Given the description of an element on the screen output the (x, y) to click on. 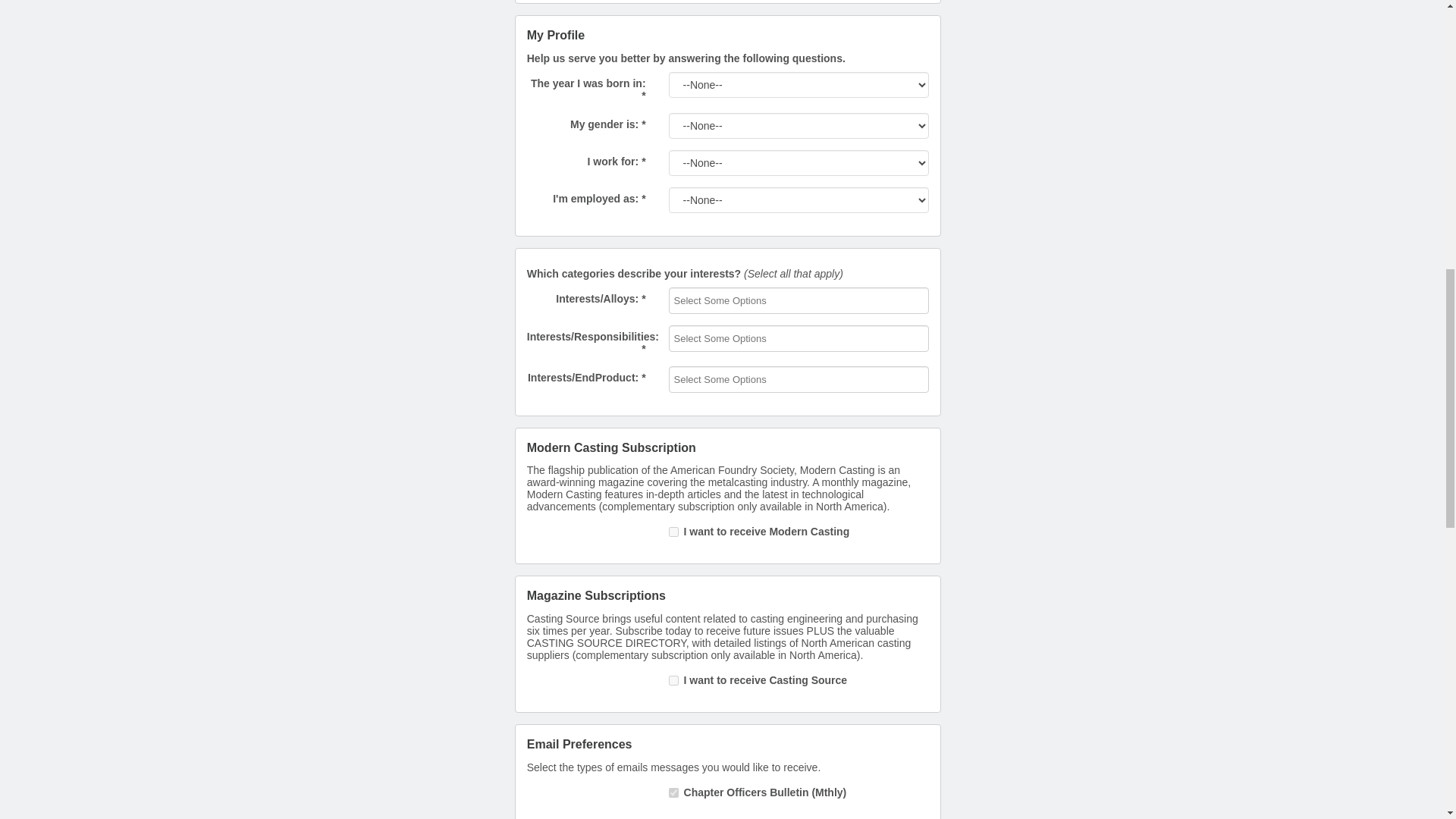
1 (673, 680)
1 (673, 792)
1 (673, 532)
Select Some Options (730, 338)
Select Some Options (730, 379)
Select Some Options (730, 300)
